Given the description of an element on the screen output the (x, y) to click on. 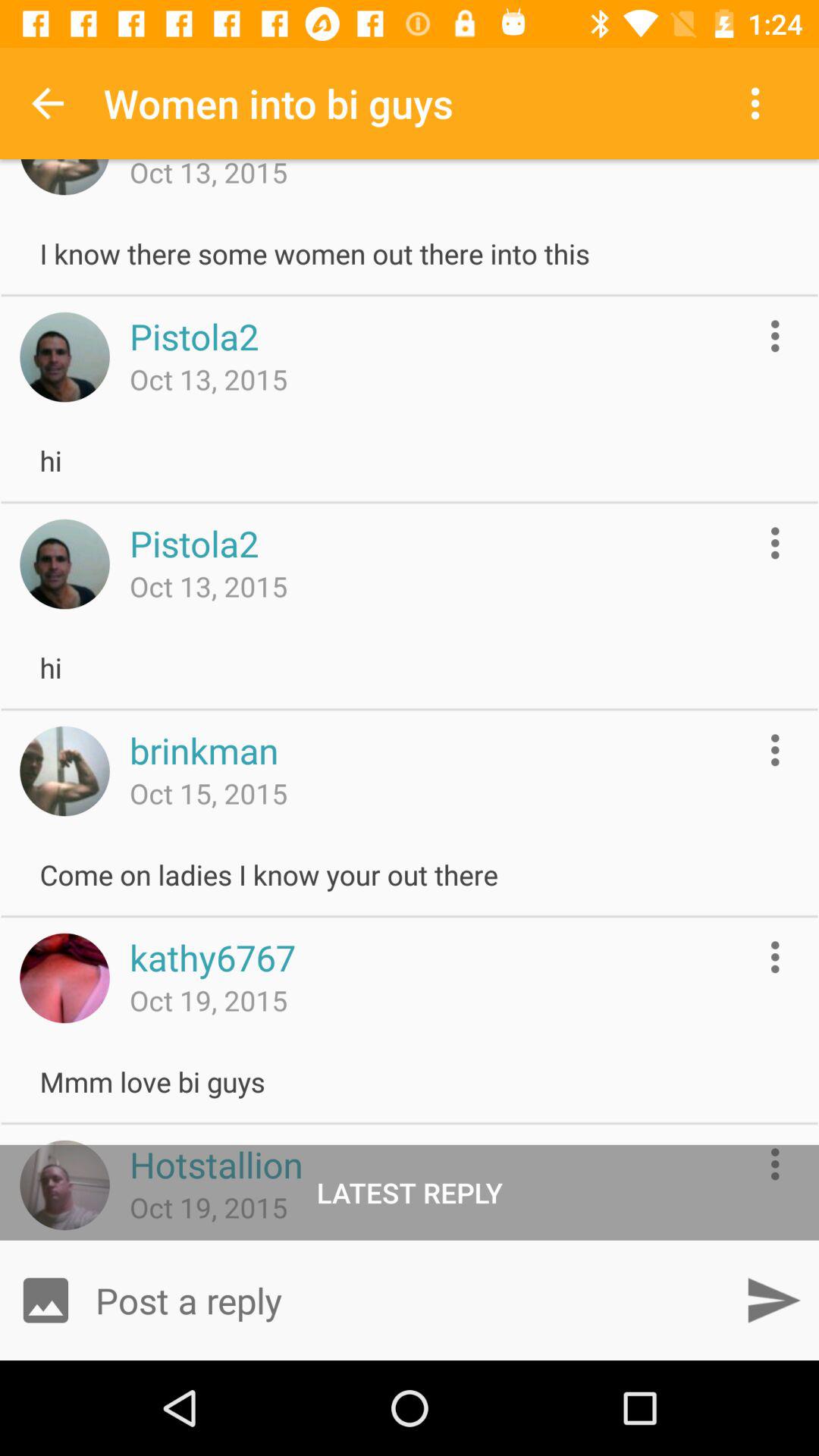
view full size profile picture (64, 564)
